Given the description of an element on the screen output the (x, y) to click on. 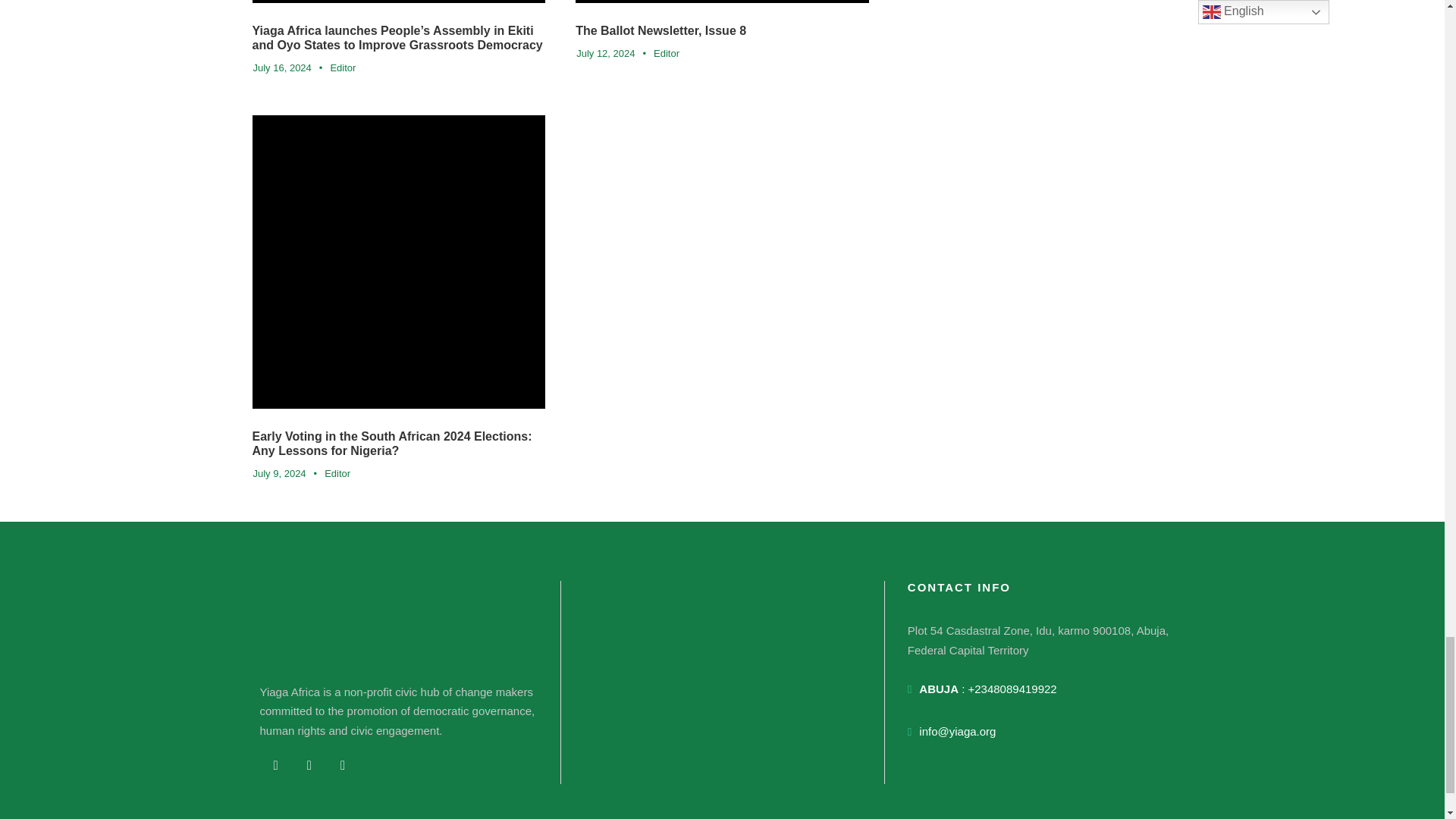
Posts by Editor (337, 473)
Posts by Editor (342, 67)
Posts by Editor (666, 52)
